Given the description of an element on the screen output the (x, y) to click on. 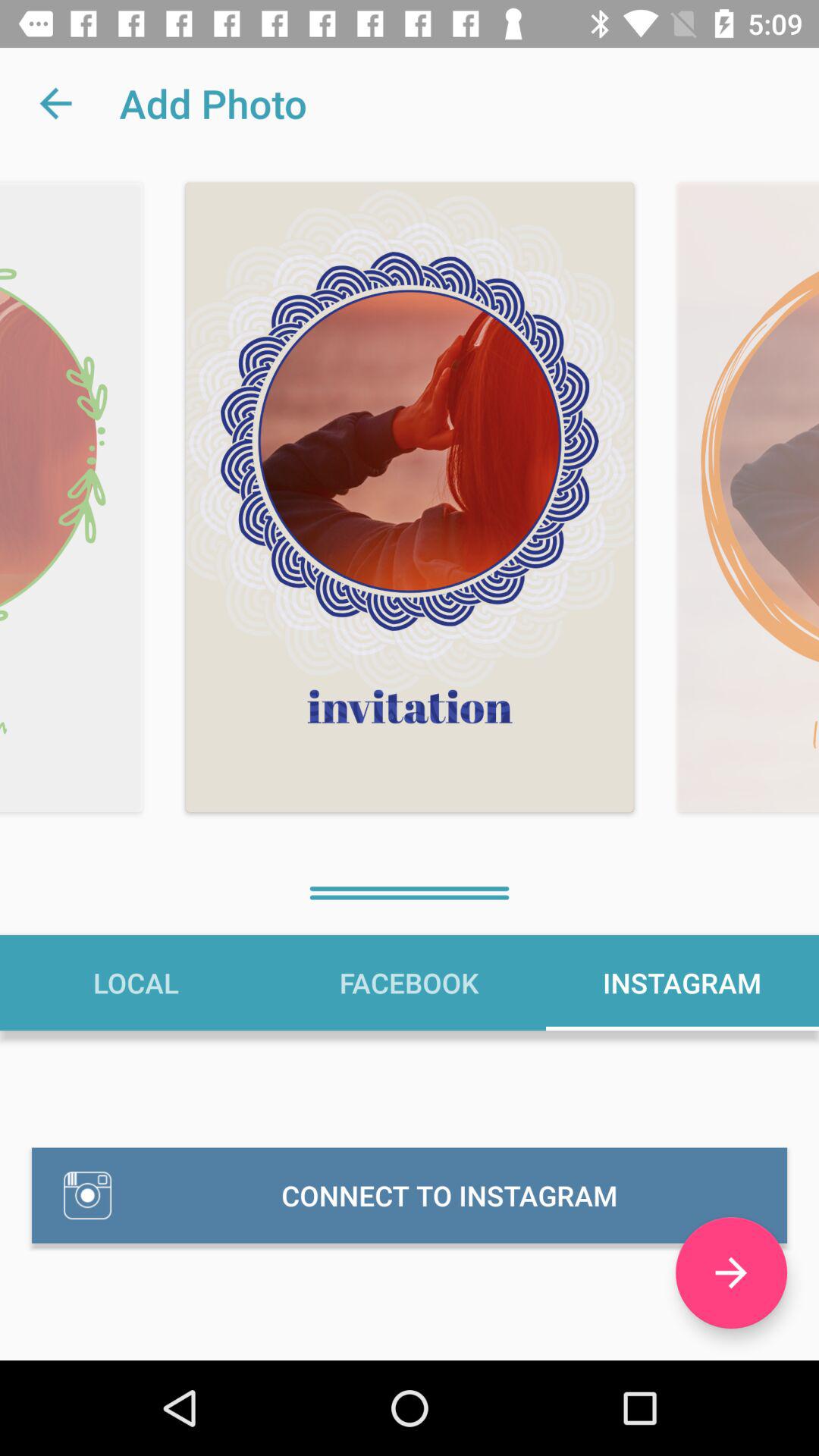
choose the icon next to add photo icon (55, 103)
